Given the description of an element on the screen output the (x, y) to click on. 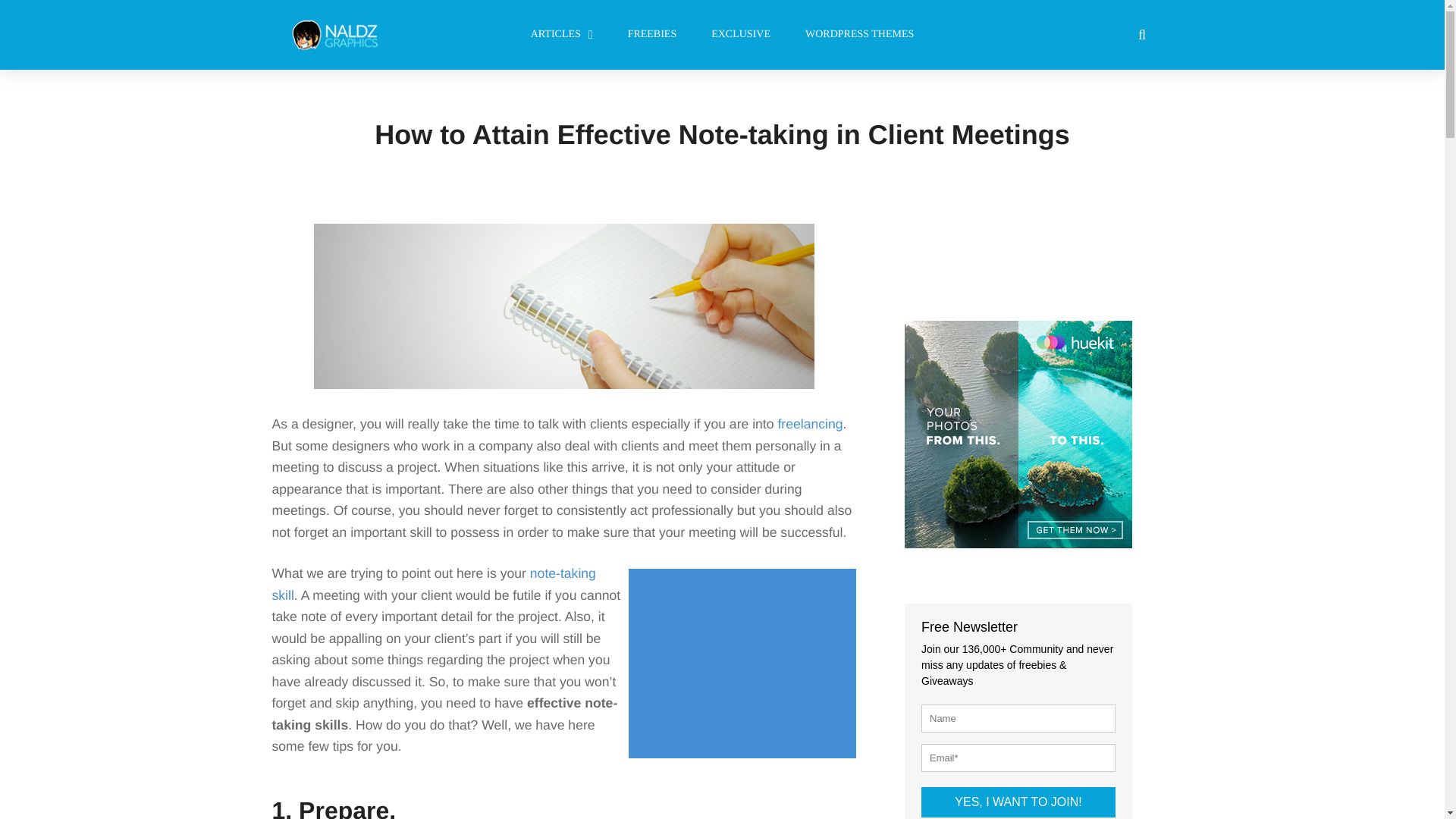
WORDPRESS THEMES (859, 34)
Advertisement (745, 665)
huekit lightroom presets (1018, 434)
FREEBIES (652, 34)
EXCLUSIVE (740, 34)
ARTICLES (561, 34)
